Given the description of an element on the screen output the (x, y) to click on. 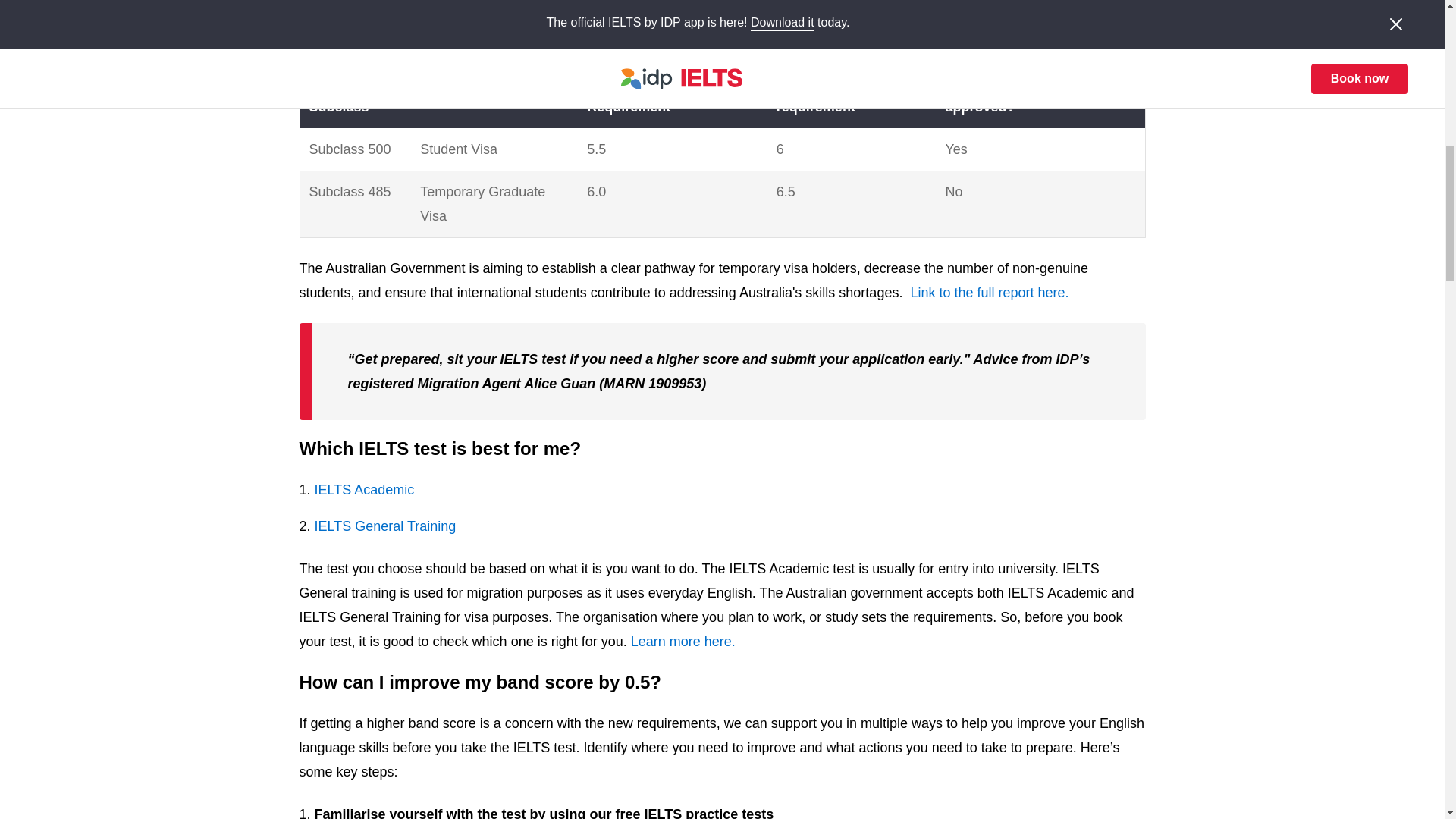
Learn more here. (682, 641)
Link to the full report here. (989, 292)
IELTS General Training  (387, 525)
IELTS Academic   (368, 489)
